Given the description of an element on the screen output the (x, y) to click on. 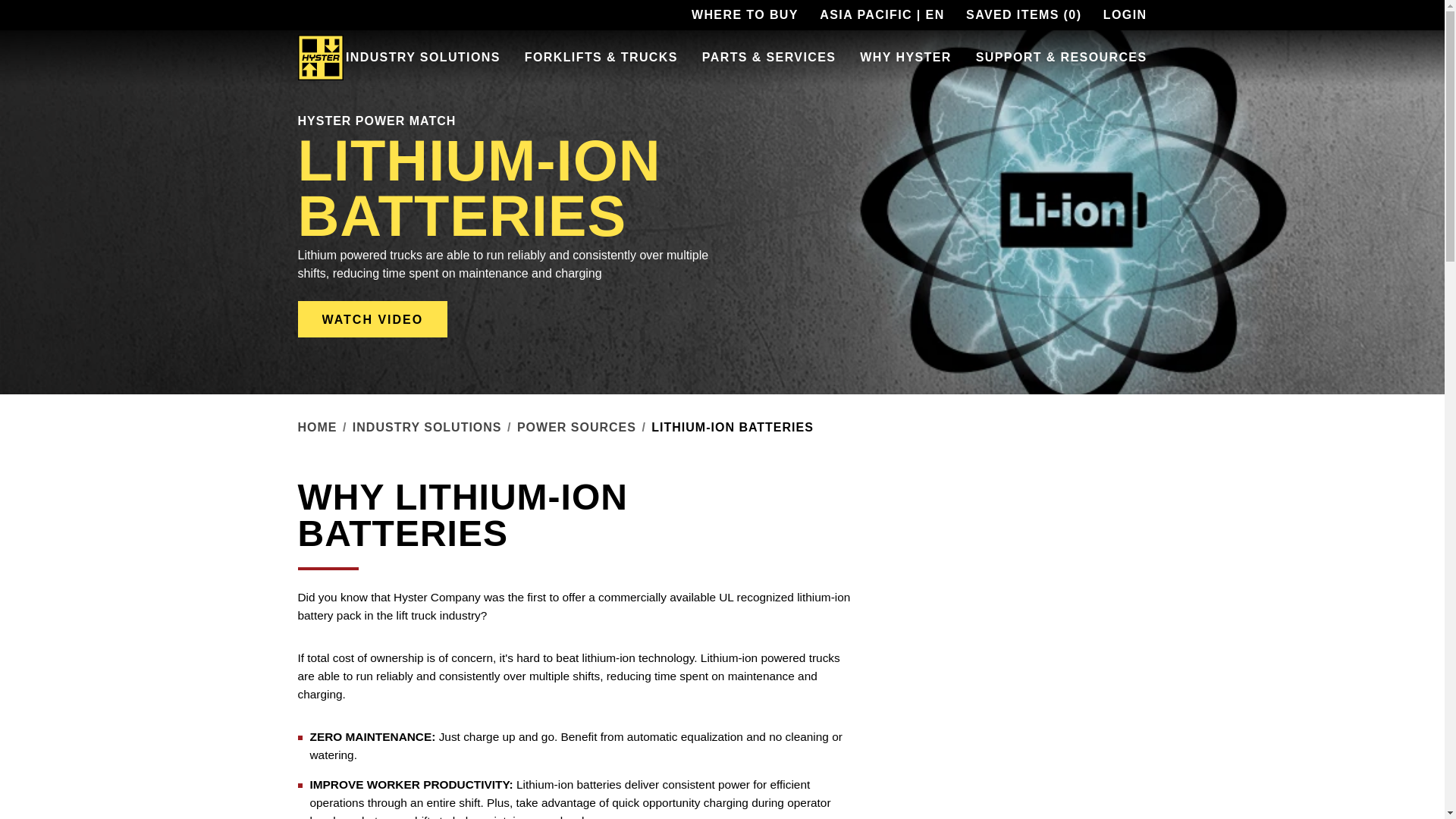
Where to Buy (744, 15)
INDUSTRY SOLUTIONS (423, 57)
WHERE TO BUY (744, 15)
